Given the description of an element on the screen output the (x, y) to click on. 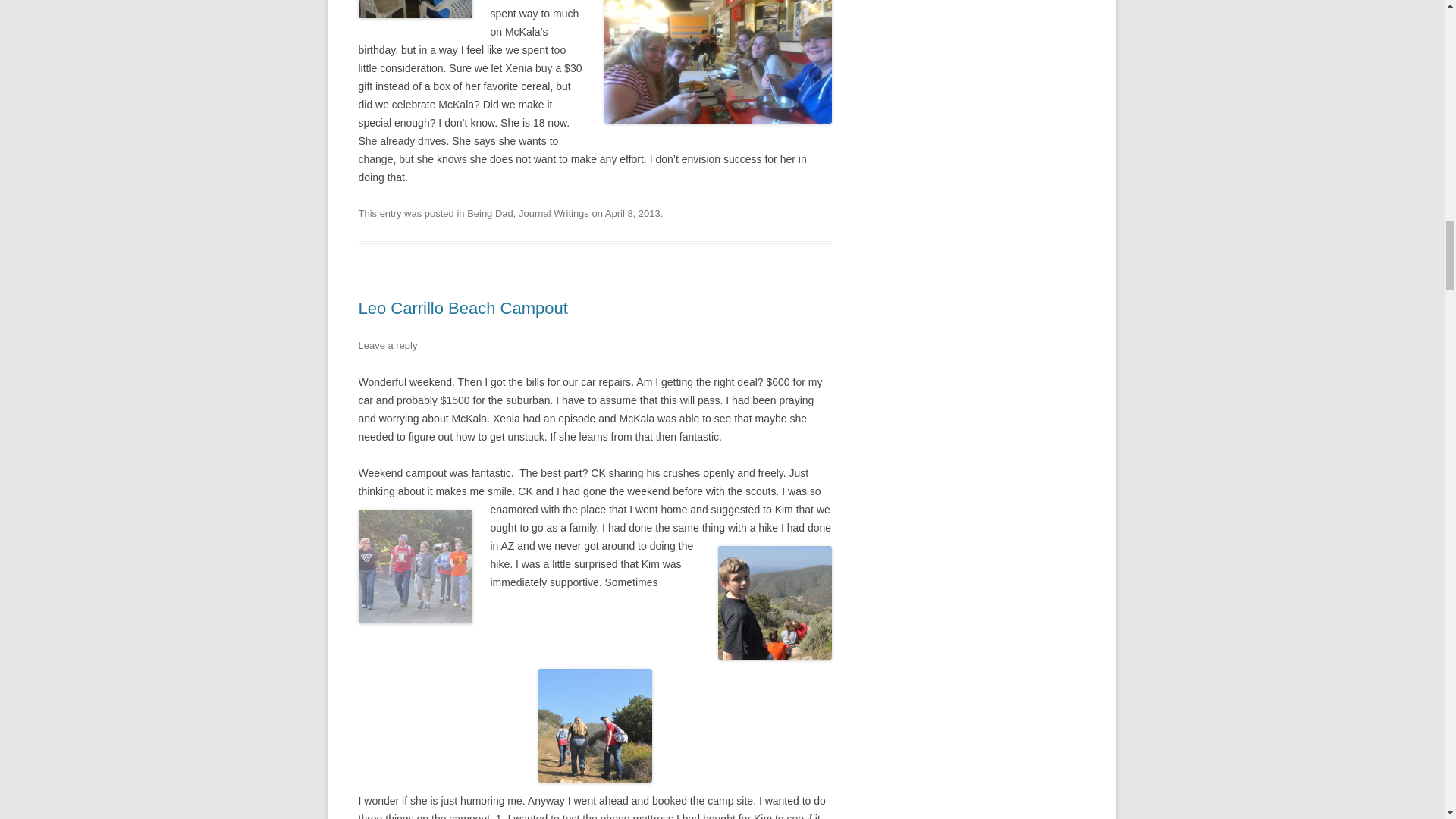
April 8, 2013 (633, 213)
Being Dad (490, 213)
Leave a reply (387, 345)
Journal Writings (553, 213)
3:36 pm (633, 213)
Leo Carrillo Beach Campout (462, 307)
